Given the description of an element on the screen output the (x, y) to click on. 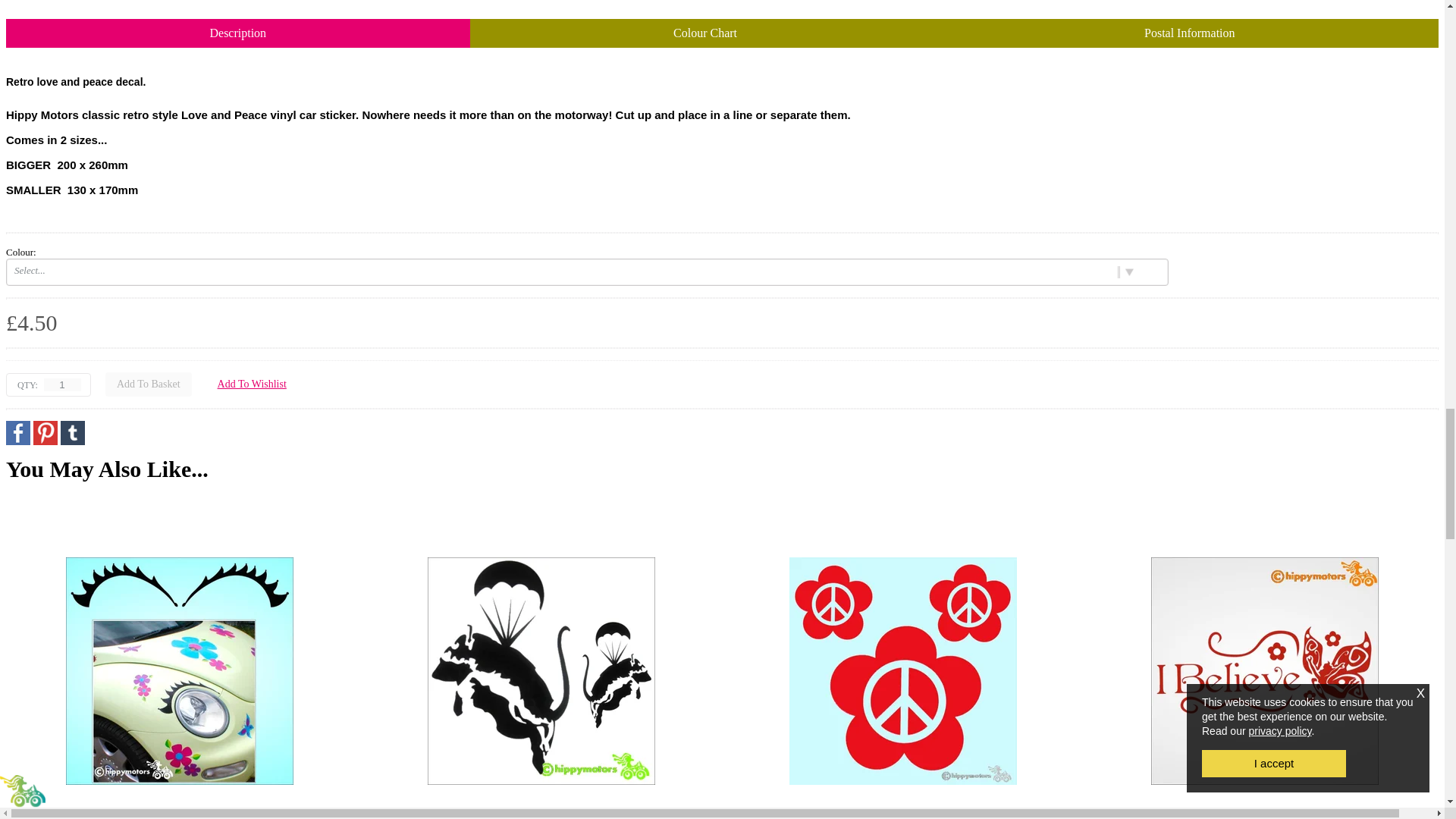
1 (62, 384)
